Given the description of an element on the screen output the (x, y) to click on. 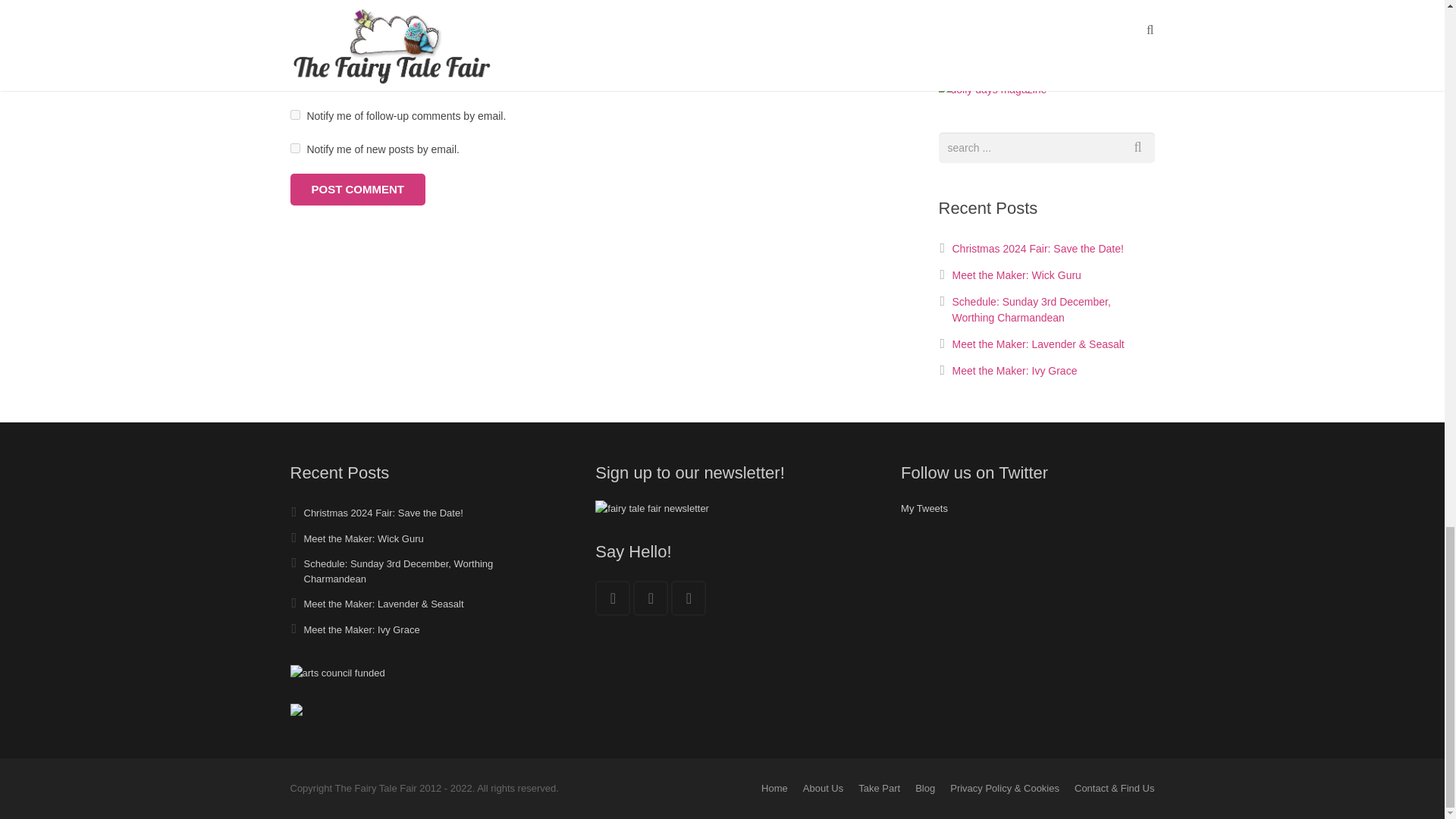
Post Comment (357, 189)
Christmas 2024 Fair: Save the Date! (1038, 248)
yes (294, 81)
Meet the Maker: Wick Guru (1016, 275)
subscribe (294, 114)
Christmas 2024 Fair: Save the Date! (382, 512)
subscribe (294, 148)
Meet the Maker: Ivy Grace (1014, 370)
Post Comment (357, 189)
Schedule: Sunday 3rd December, Worthing Charmandean (1031, 309)
